Given the description of an element on the screen output the (x, y) to click on. 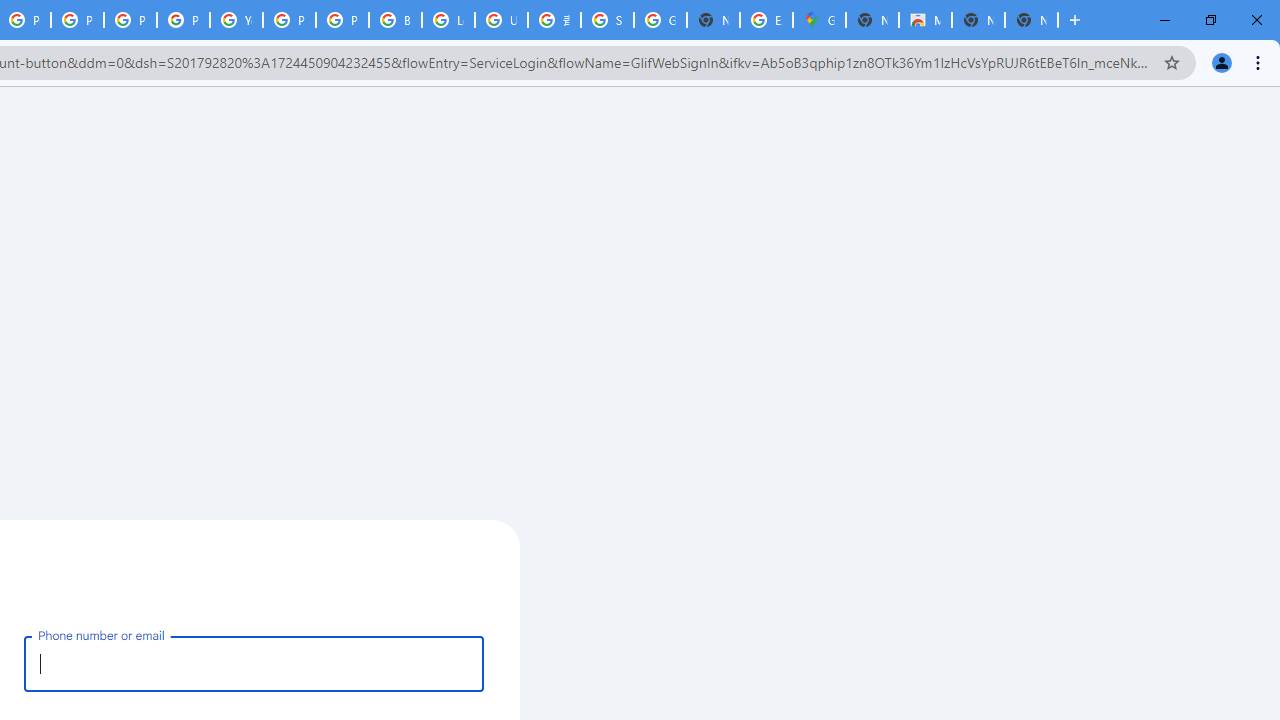
Explore new street-level details - Google Maps Help (766, 20)
Google Maps (819, 20)
New Tab (872, 20)
Phone number or email (253, 663)
